Given the description of an element on the screen output the (x, y) to click on. 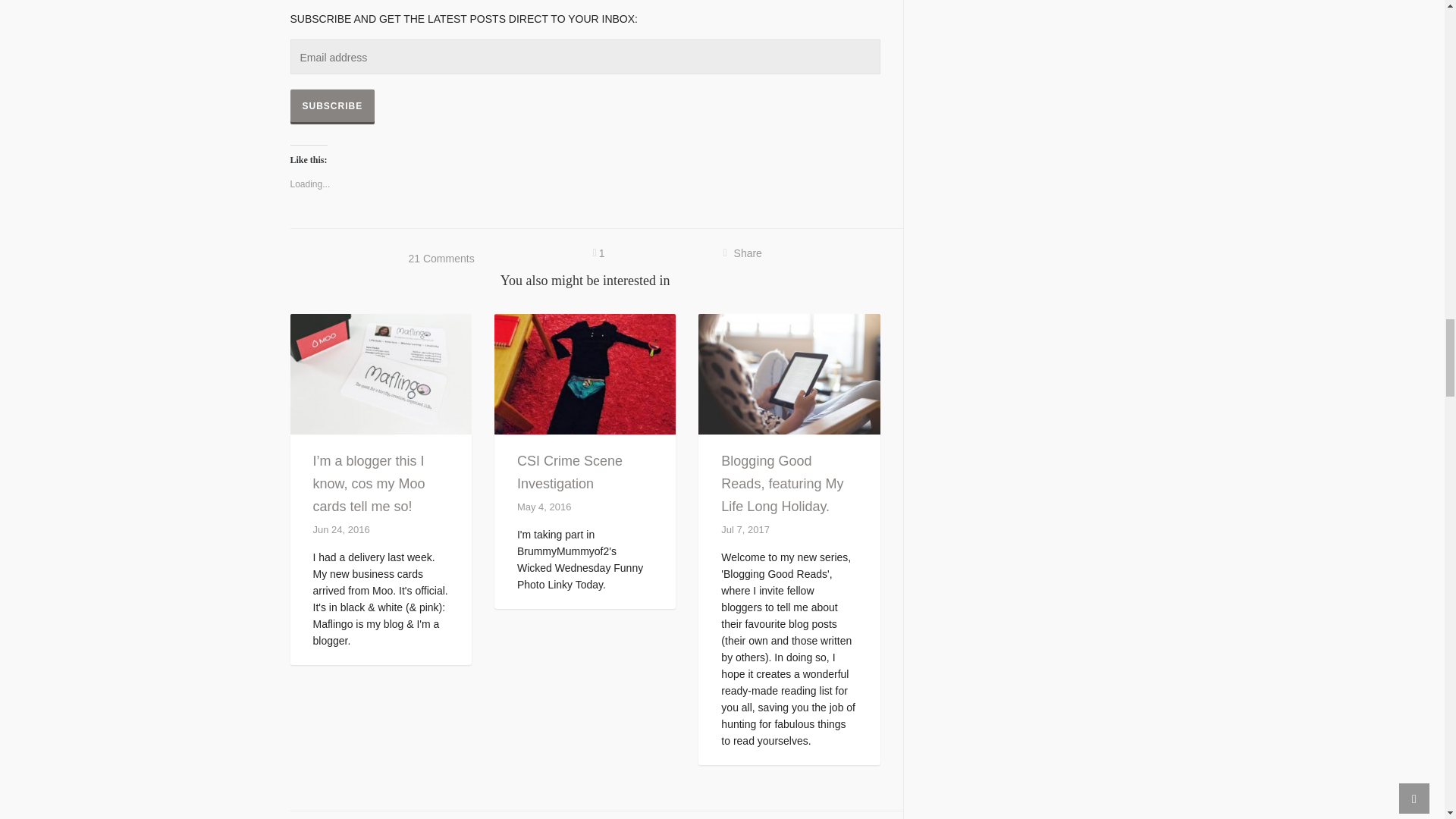
Subscribe (331, 105)
Subscribe (331, 105)
21 Comments (440, 258)
